Given the description of an element on the screen output the (x, y) to click on. 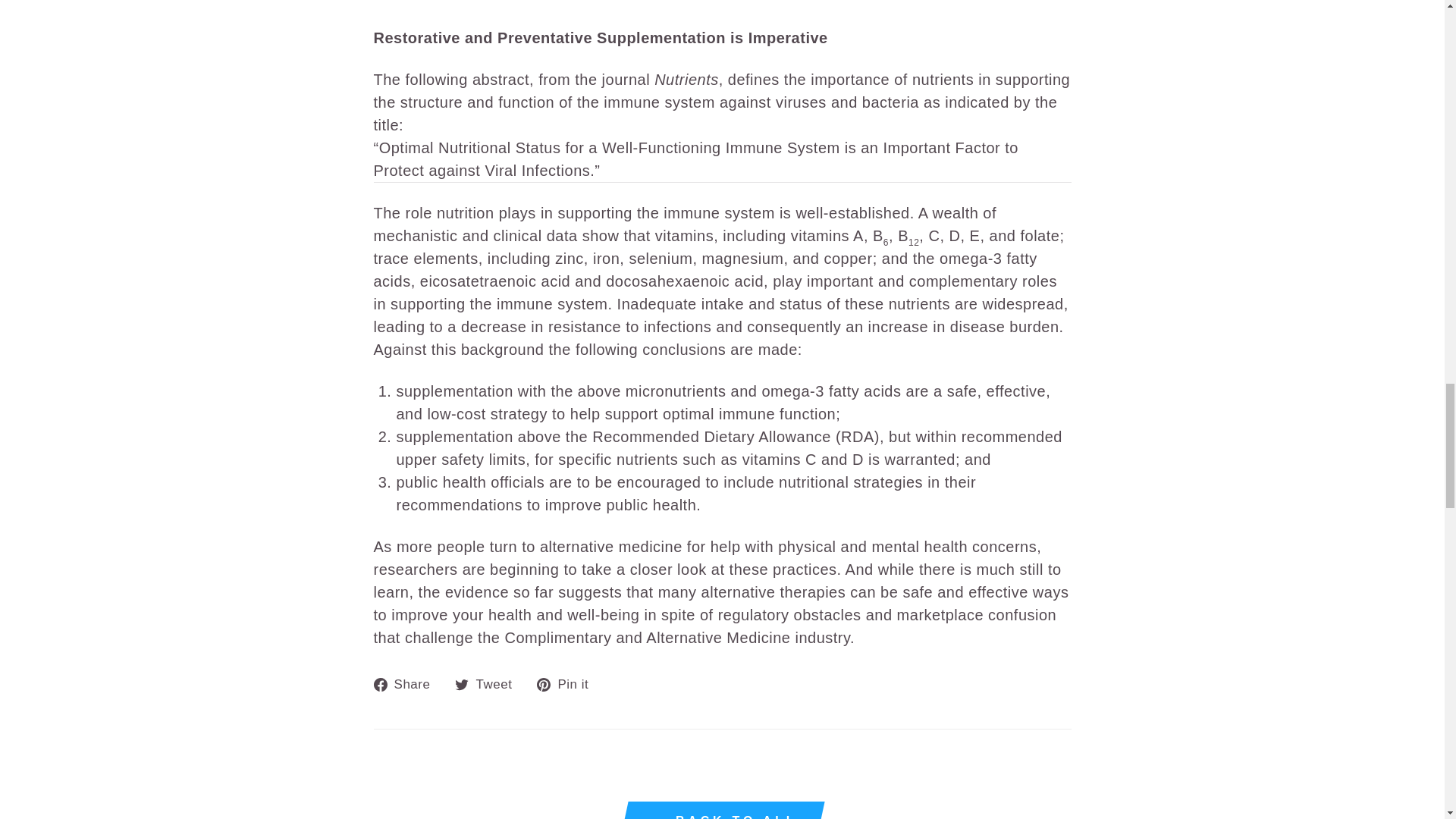
Share on Facebook (406, 682)
Pin on Pinterest (568, 682)
Tweet on Twitter (488, 682)
